Given the description of an element on the screen output the (x, y) to click on. 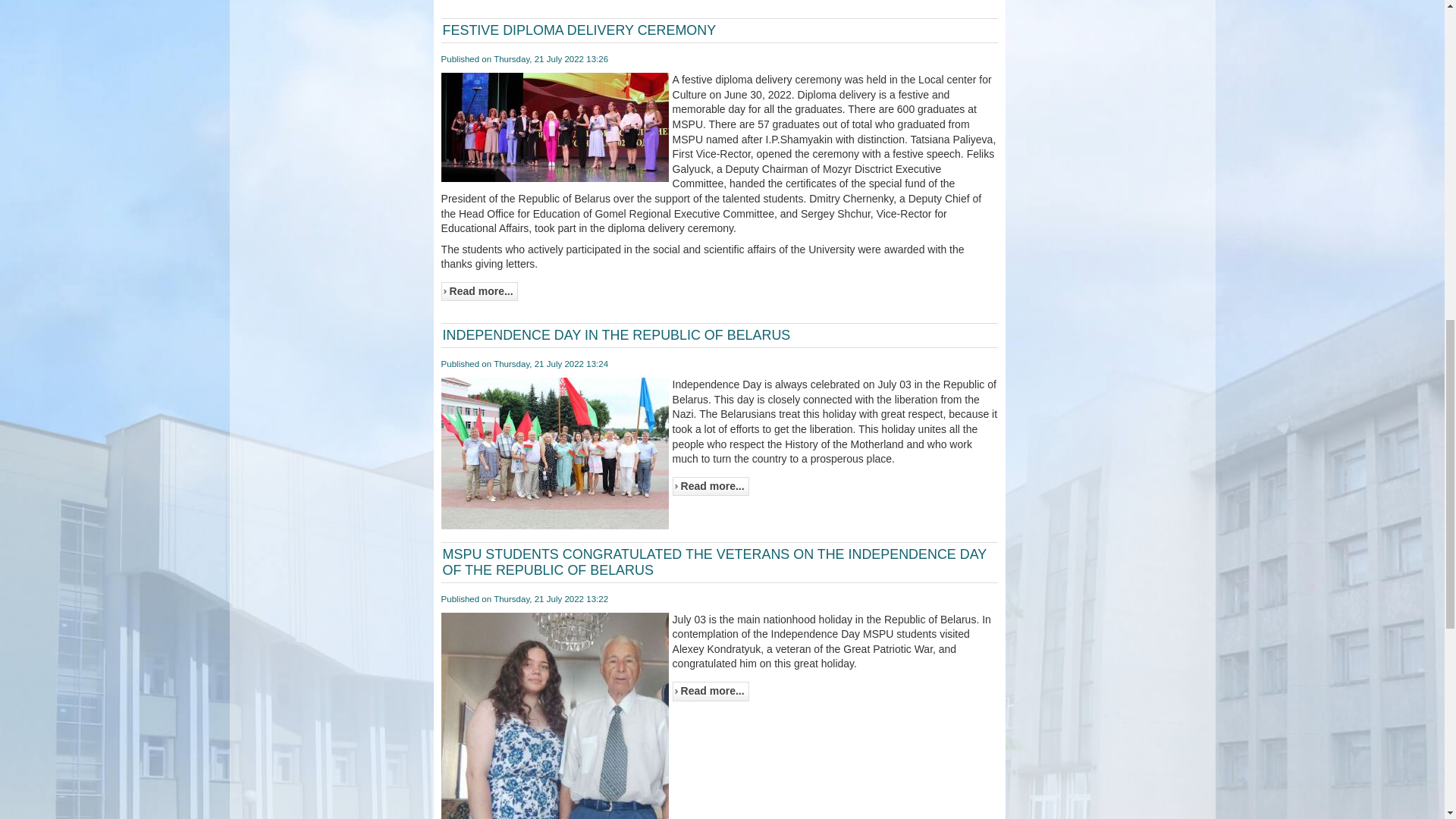
photo (554, 129)
photo (554, 715)
photo (554, 455)
